Given the description of an element on the screen output the (x, y) to click on. 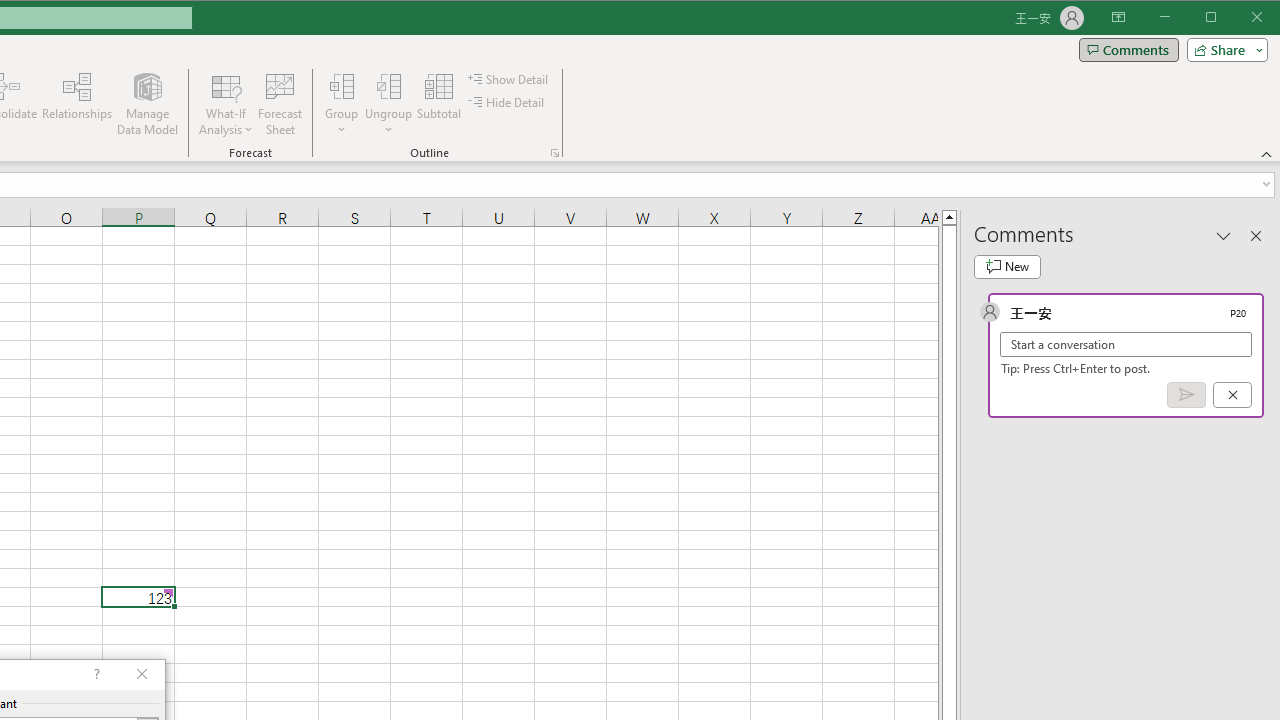
Maximize (1239, 18)
Cancel (1232, 395)
Start a conversation (1126, 344)
